Given the description of an element on the screen output the (x, y) to click on. 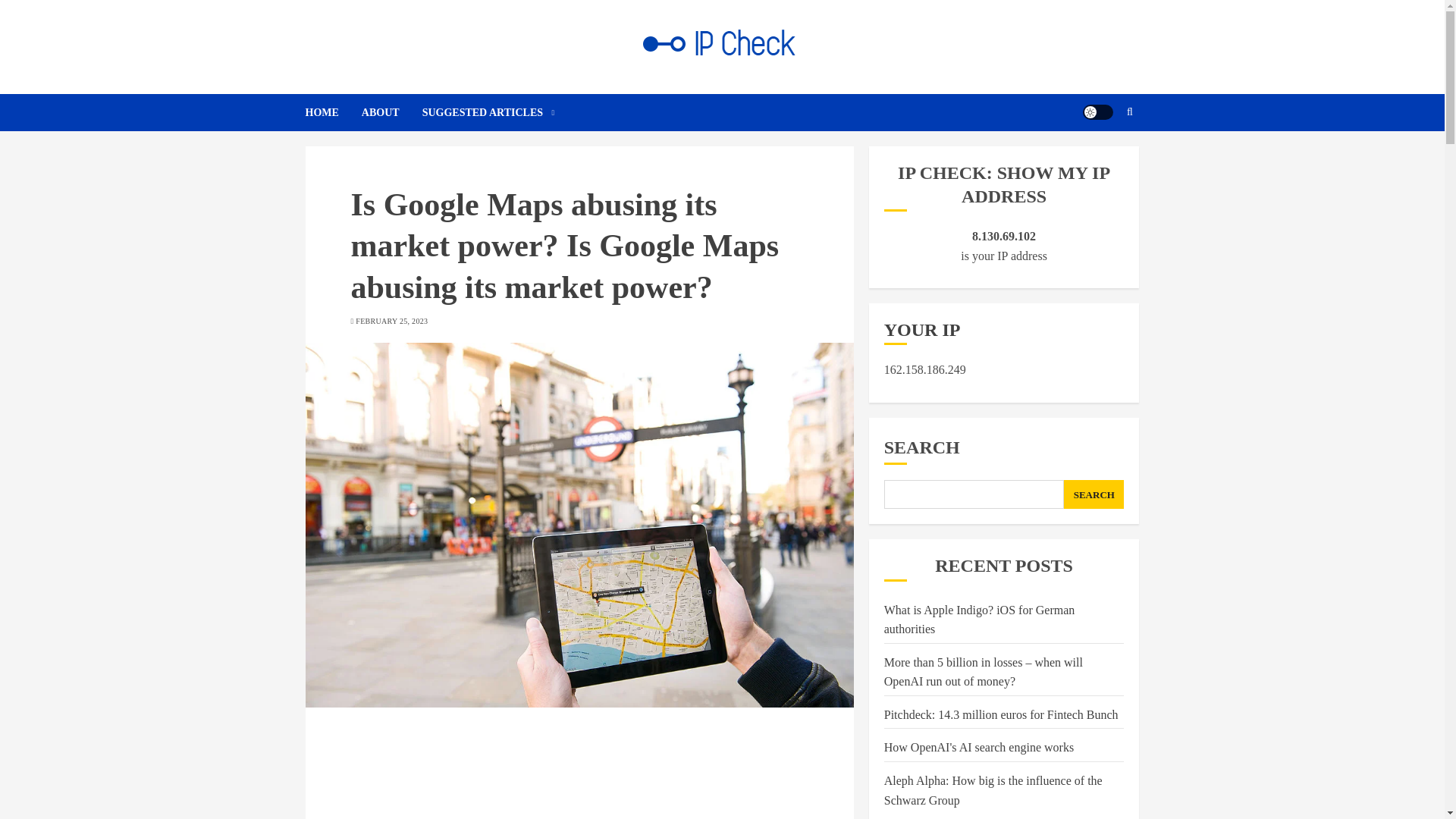
ABOUT (391, 112)
HOME (332, 112)
Advertisement (578, 773)
SUGGESTED ARTICLES (488, 112)
